Given the description of an element on the screen output the (x, y) to click on. 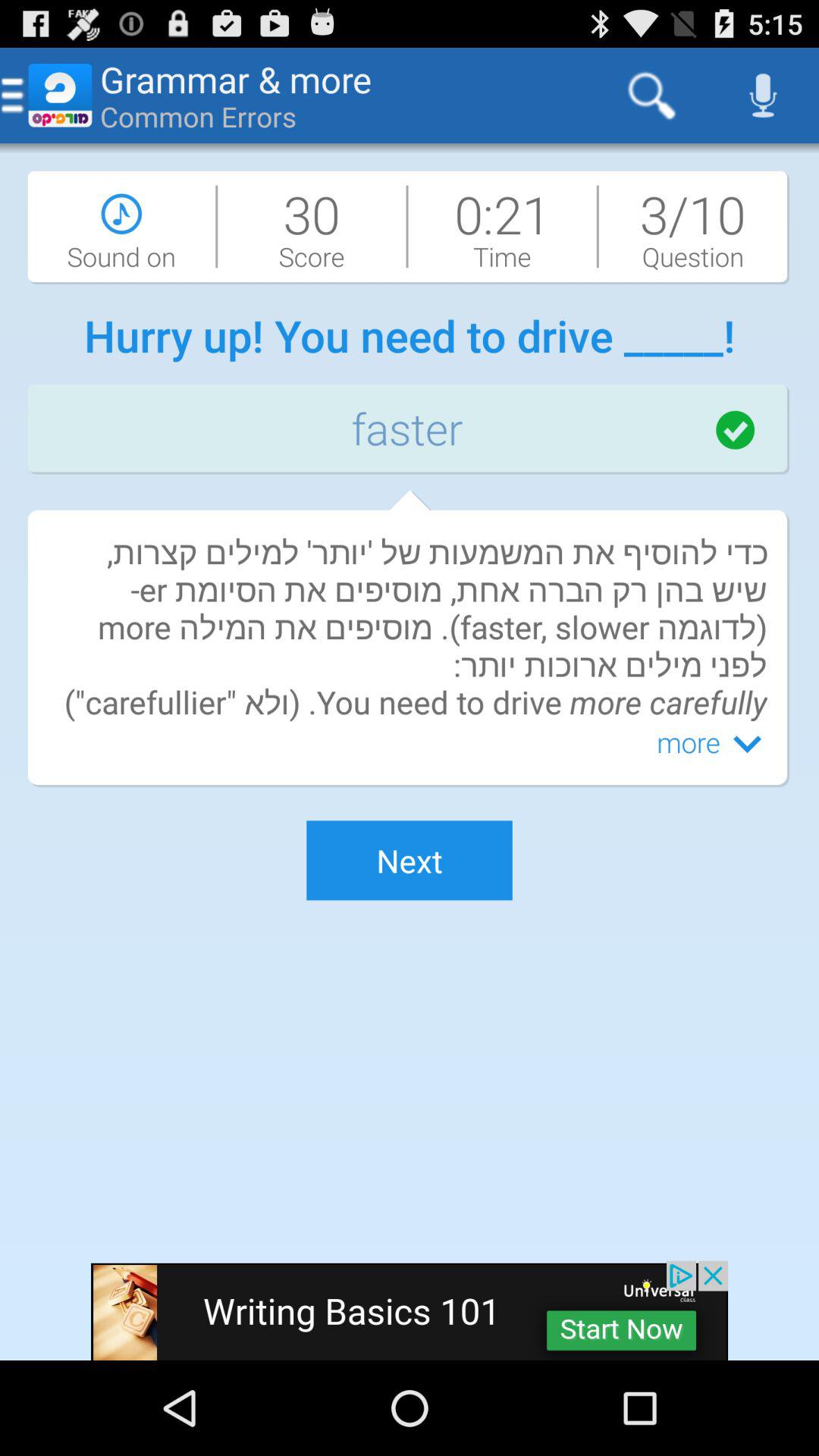
click advertisement (409, 1310)
